Given the description of an element on the screen output the (x, y) to click on. 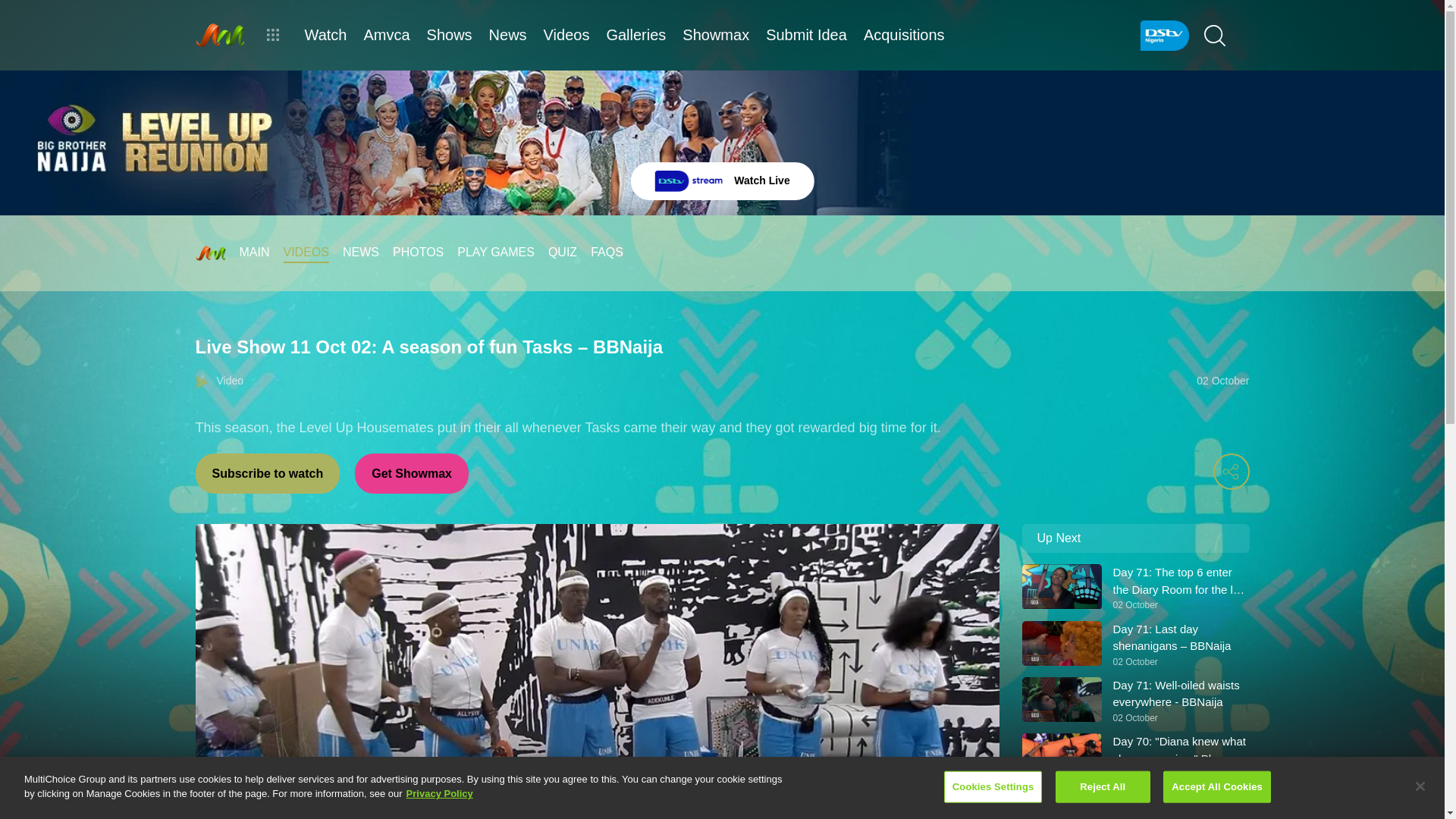
PHOTOS (418, 252)
PLAY GAMES (495, 252)
MAIN (254, 252)
Watch Live (1135, 701)
Get Showmax (721, 180)
NEWS (411, 473)
Subscribe to watch (360, 252)
QUIZ (267, 473)
FAQS (562, 252)
